Given the description of an element on the screen output the (x, y) to click on. 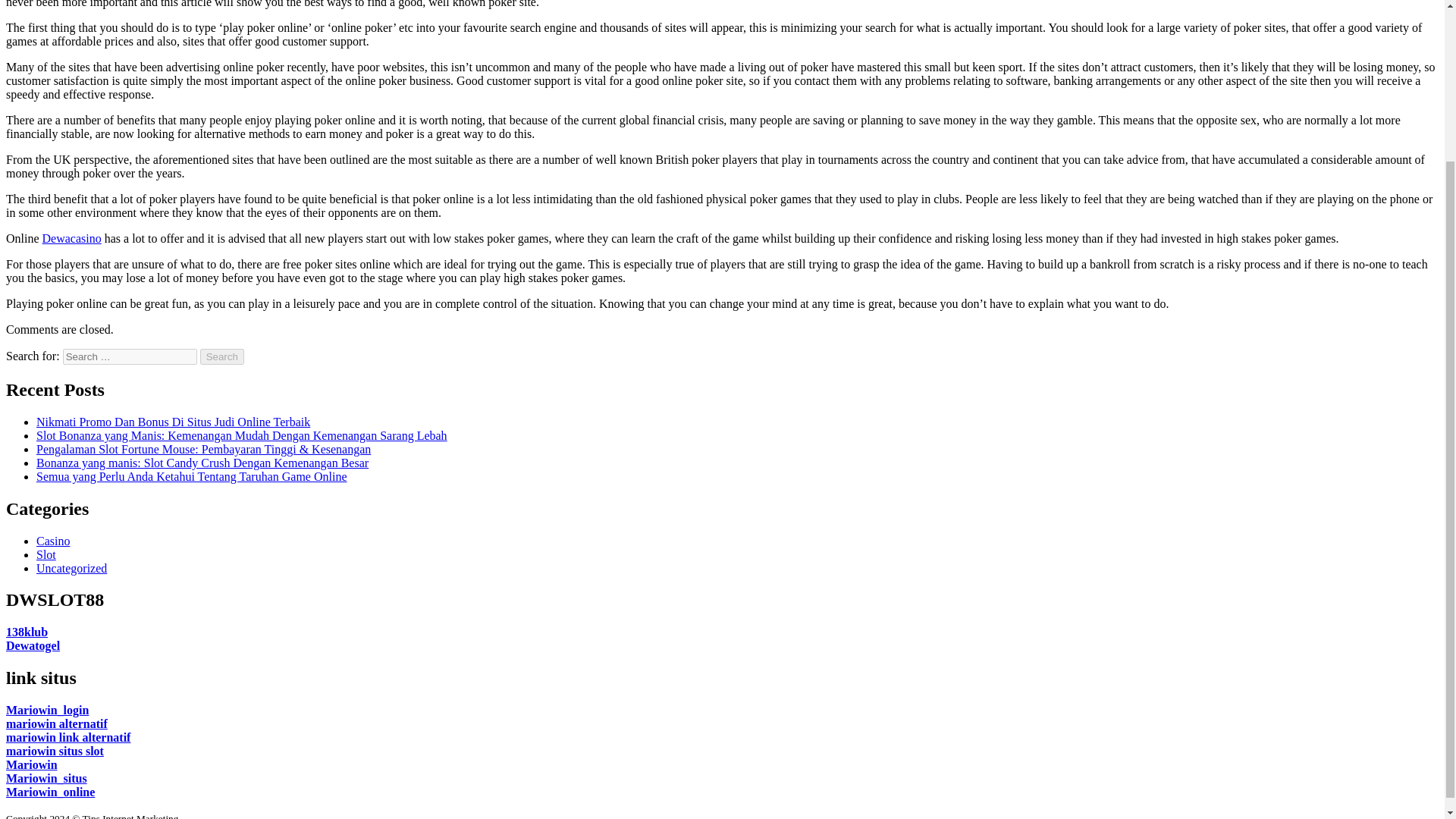
Bonanza yang manis: Slot Candy Crush Dengan Kemenangan Besar (202, 462)
Slot (46, 554)
Nikmati Promo Dan Bonus Di Situs Judi Online Terbaik (173, 421)
Search (222, 356)
mariowin alternatif (56, 723)
Dewacasino (71, 237)
Search (222, 356)
Dewatogel (32, 645)
138klub (26, 631)
mariowin situs slot (54, 750)
Semua yang Perlu Anda Ketahui Tentang Taruhan Game Online (191, 476)
Mariowin (31, 764)
mariowin link alternatif (68, 737)
Casino (52, 540)
Uncategorized (71, 567)
